Given the description of an element on the screen output the (x, y) to click on. 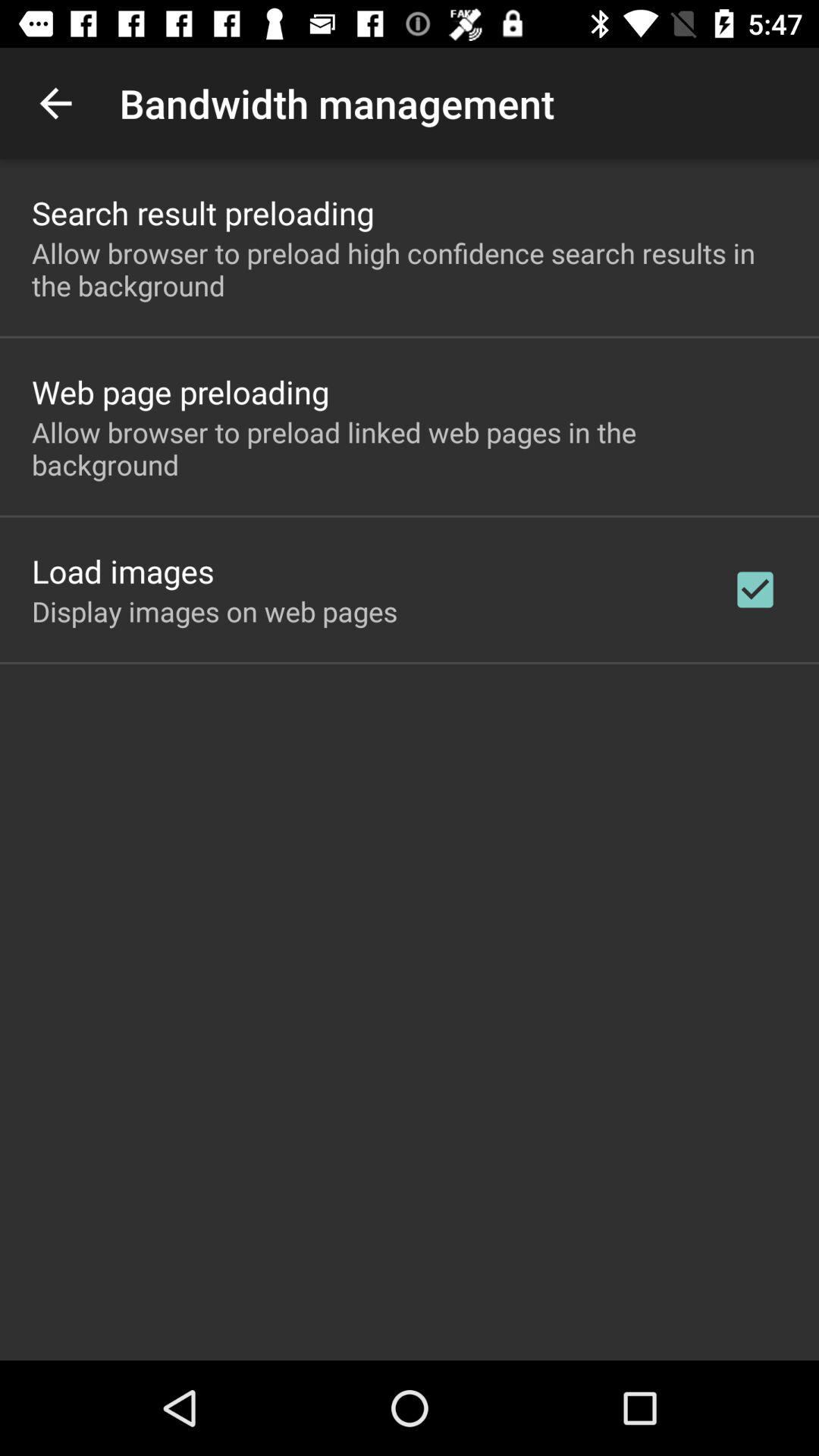
turn on item on the right (755, 589)
